Given the description of an element on the screen output the (x, y) to click on. 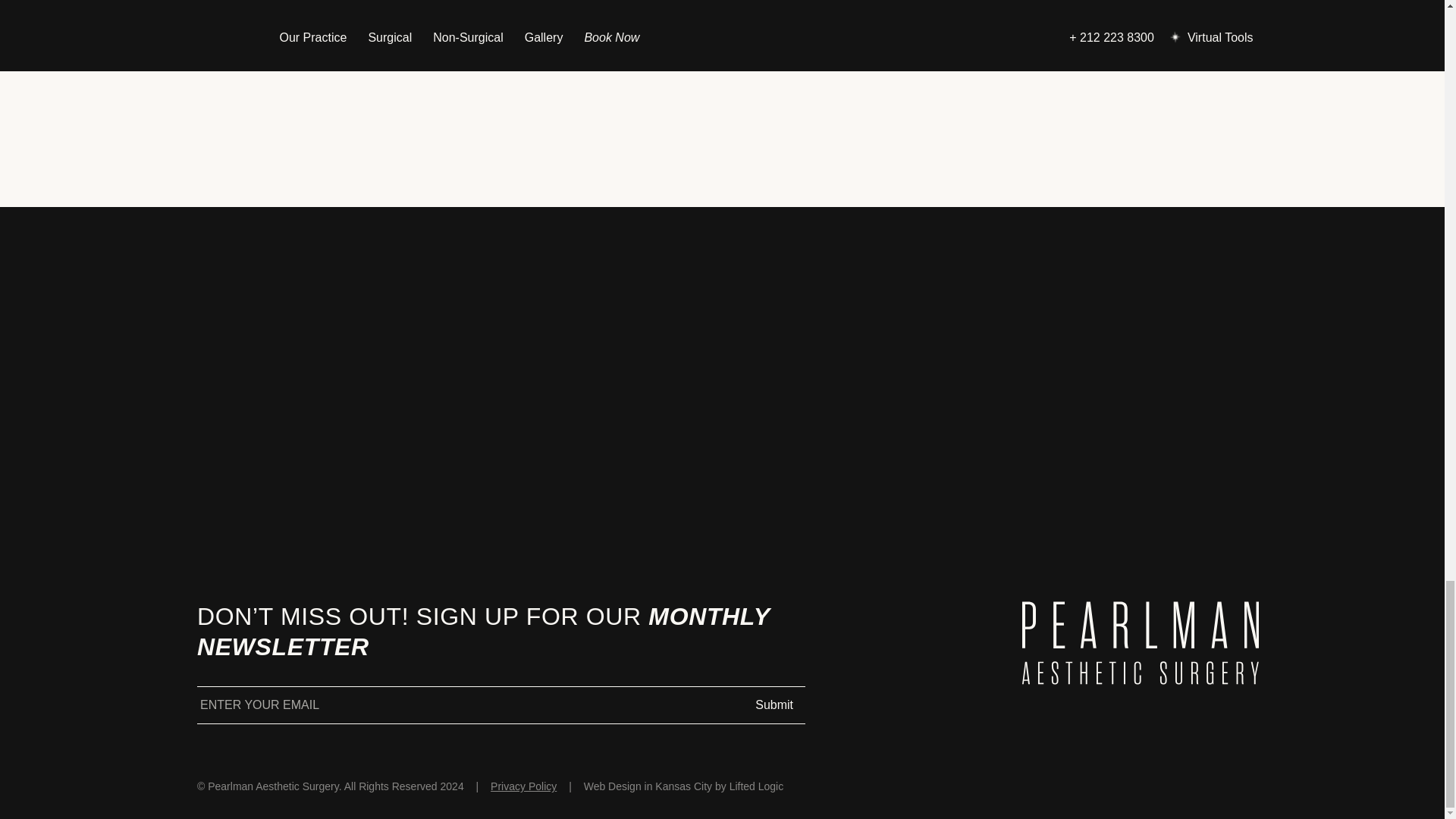
Read more about Relax and Fill Your Face (1094, 36)
Read more about What I Did On My Summer Vacation (727, 36)
Submit (774, 705)
